Given the description of an element on the screen output the (x, y) to click on. 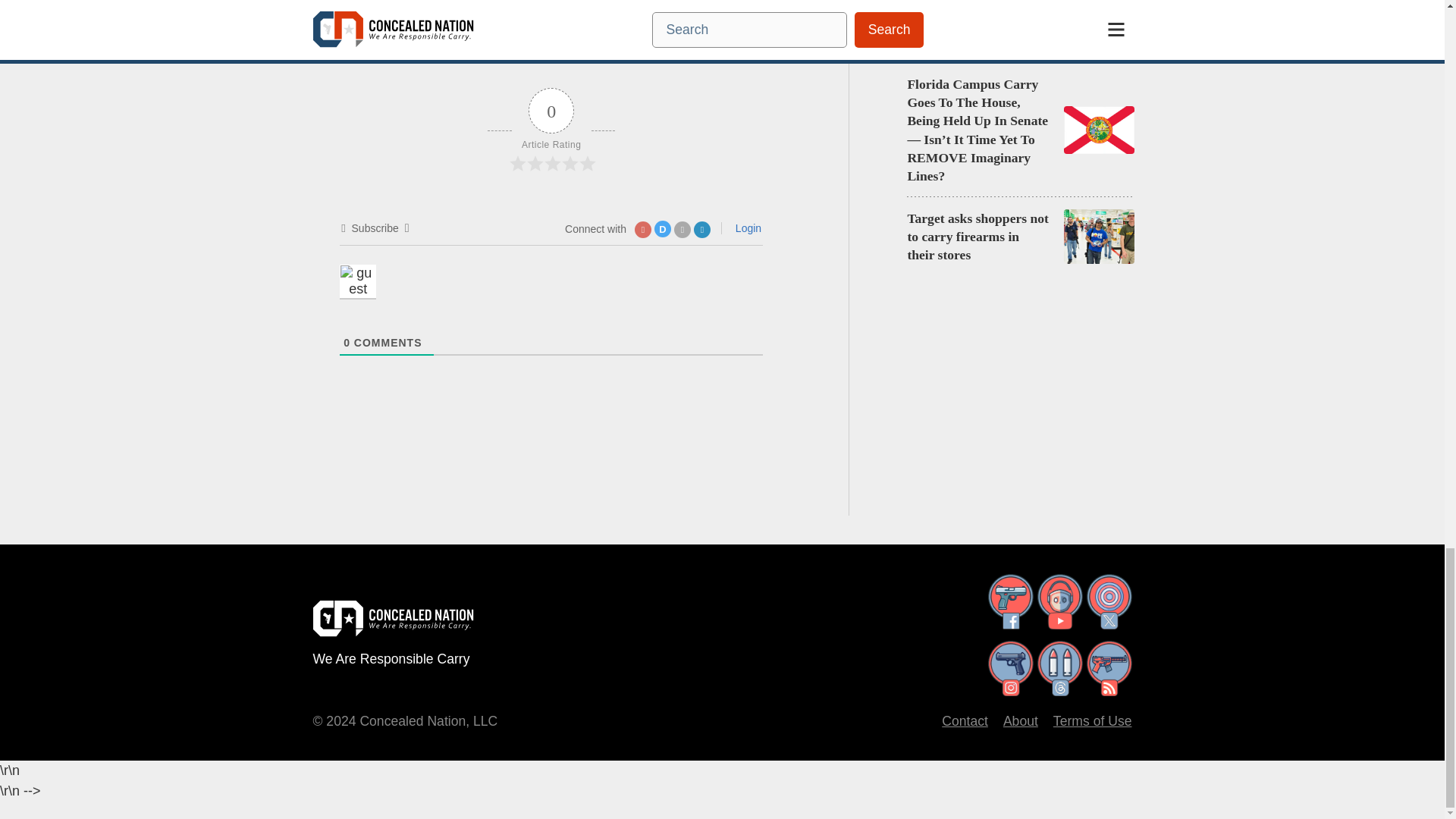
Login (745, 227)
